Given the description of an element on the screen output the (x, y) to click on. 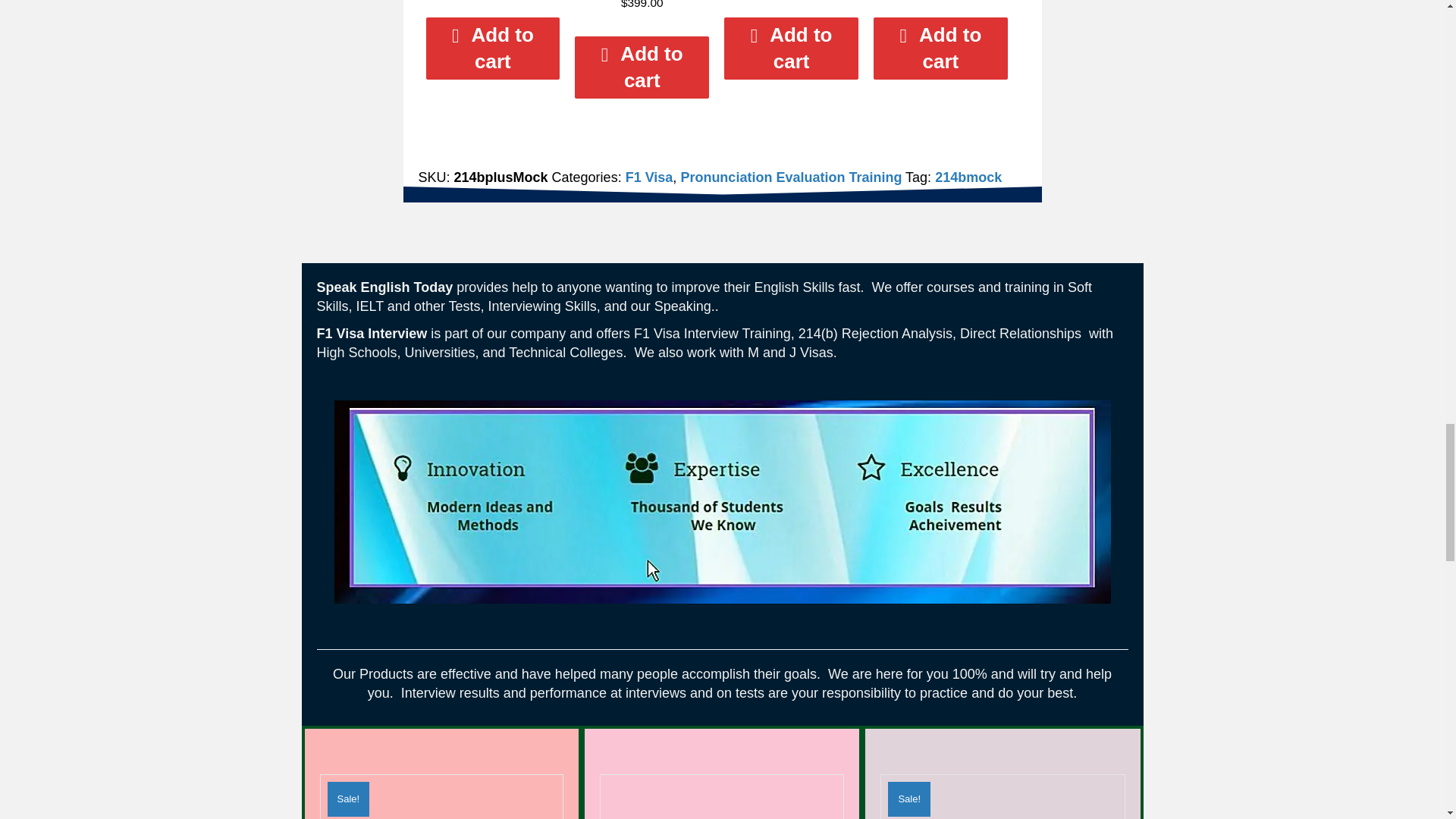
Add to cart (642, 67)
Add to cart (940, 48)
Add to cart (493, 48)
Pronunciation Evaluation Training (790, 177)
Add to cart (791, 48)
F1 Visa (649, 177)
214bmock (967, 177)
